Given the description of an element on the screen output the (x, y) to click on. 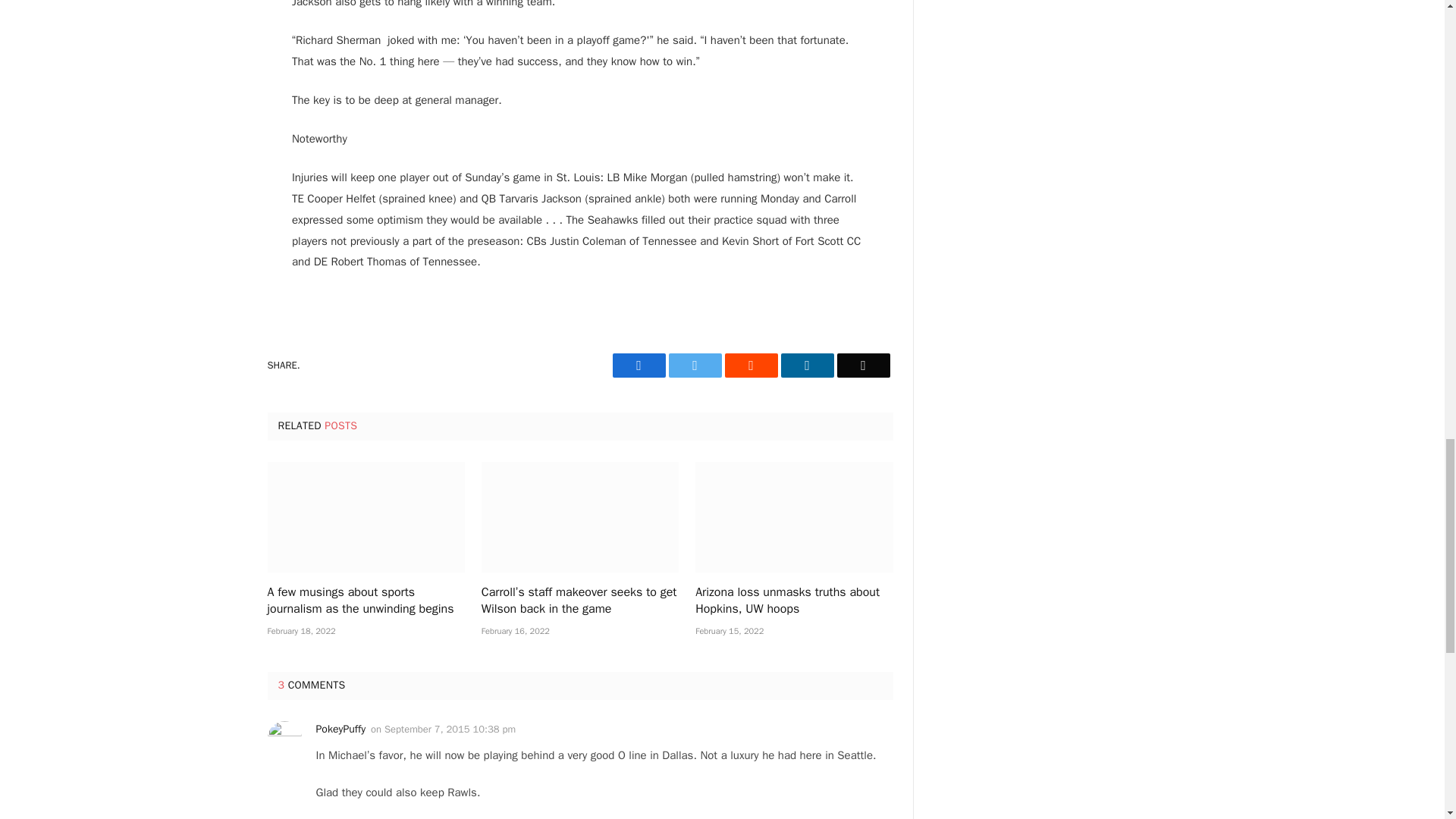
Facebook (638, 364)
Reddit (751, 364)
Twitter (695, 364)
LinkedIn (807, 364)
Email (863, 364)
